Given the description of an element on the screen output the (x, y) to click on. 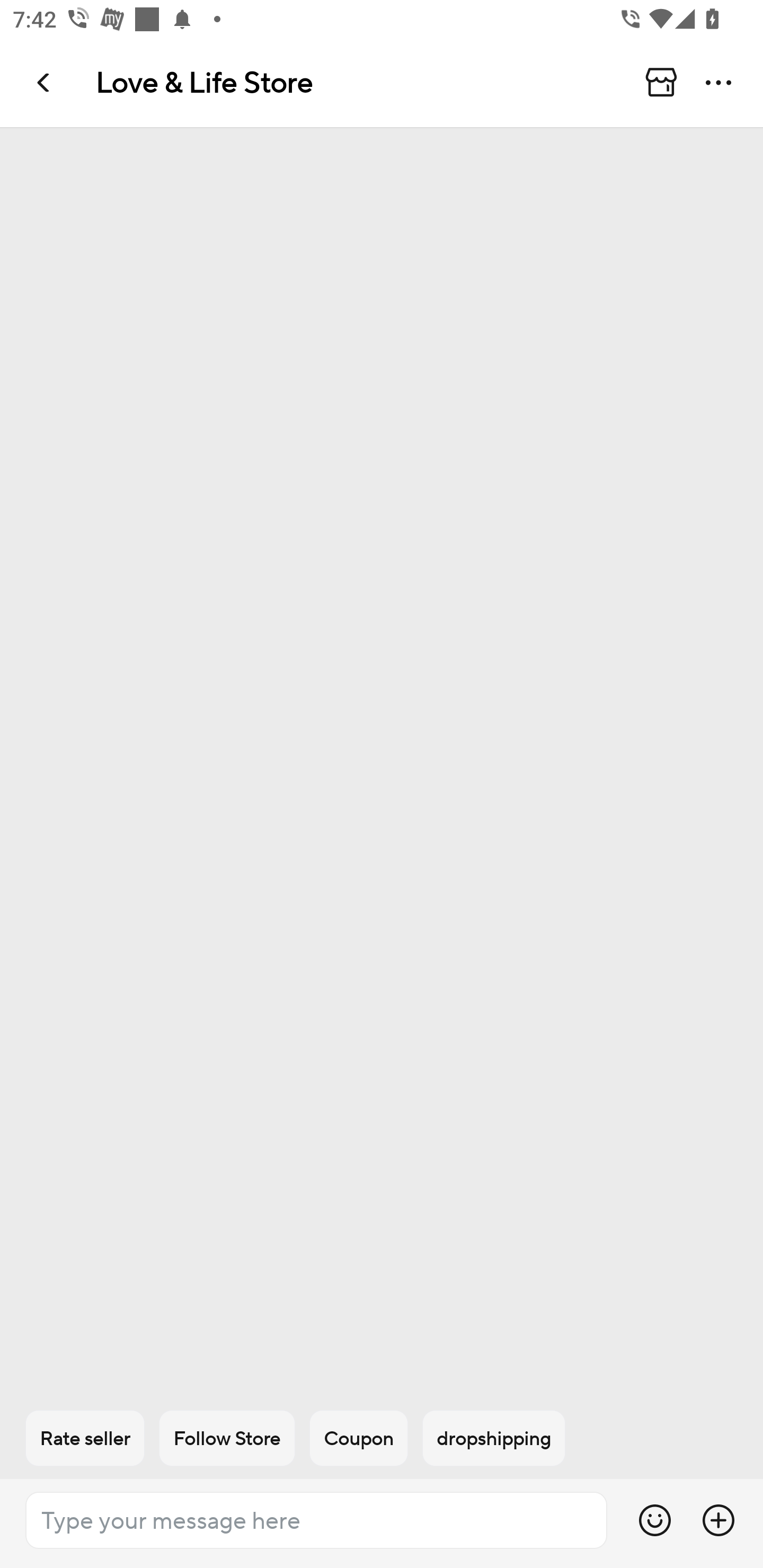
Navigate up (44, 82)
Rate seller (84, 1437)
Follow Store (226, 1437)
Coupon (358, 1437)
dropshipping (493, 1437)
Type your message here (316, 1520)
